Given the description of an element on the screen output the (x, y) to click on. 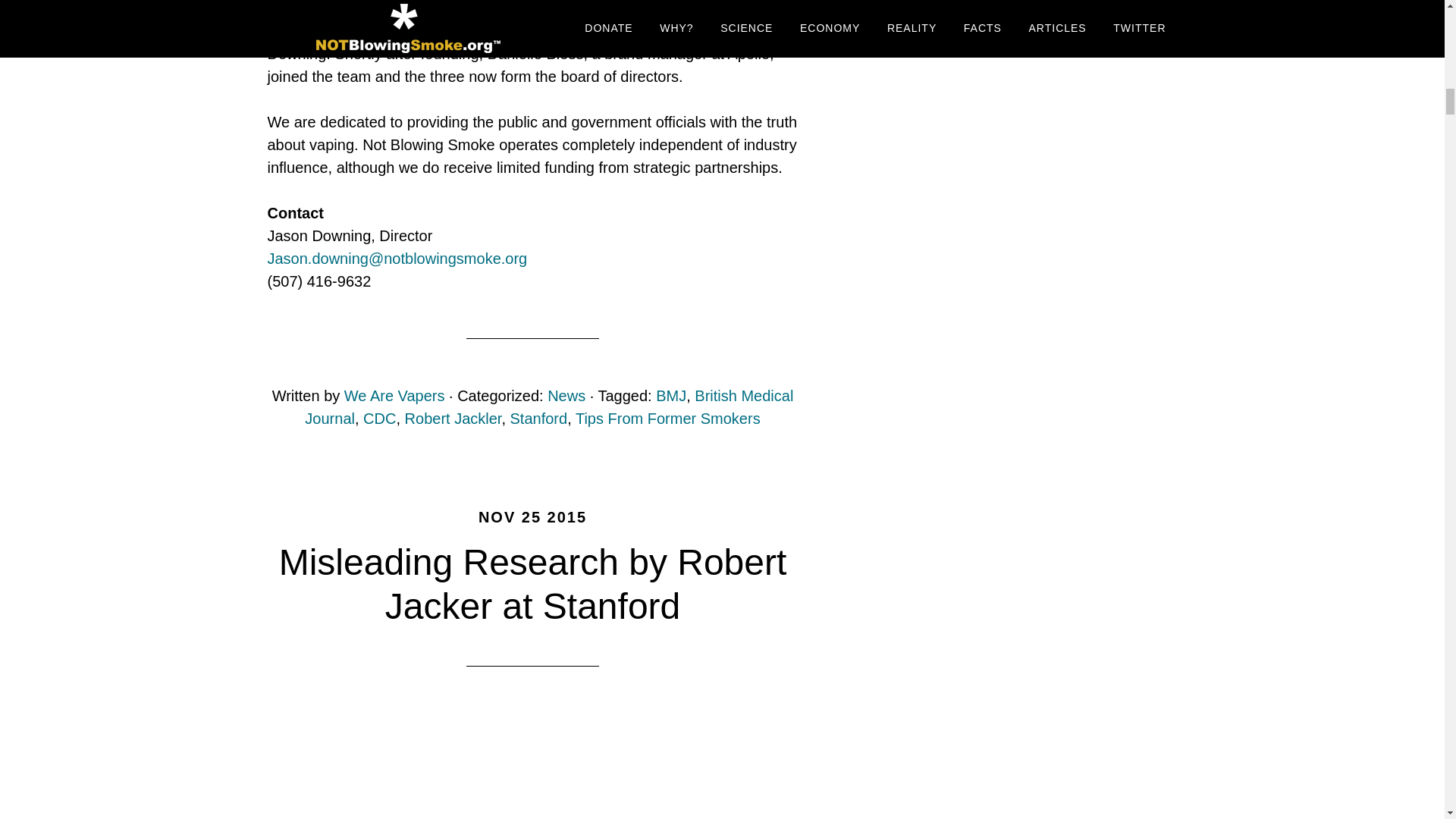
Stanford (539, 418)
British Medical Journal (548, 406)
Robert Jackler (453, 418)
We Are Vapers (394, 395)
Misleading Research by Robert Jacker at Stanford (533, 584)
CDC (379, 418)
Tips From Former Smokers (667, 418)
News (566, 395)
BMJ (670, 395)
